Given the description of an element on the screen output the (x, y) to click on. 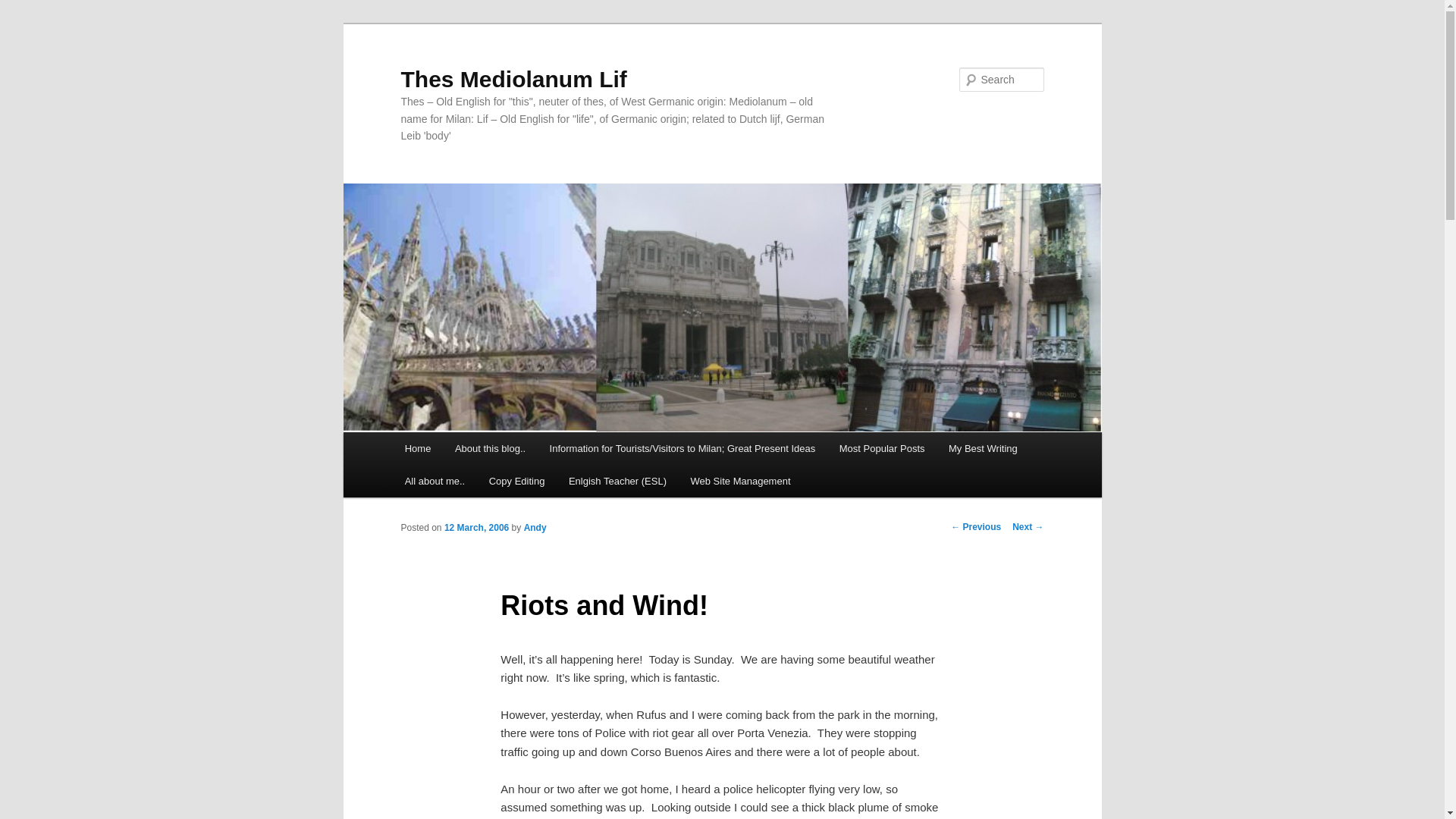
Search (24, 8)
Skip to secondary content (479, 451)
Copy Editing (516, 481)
Skip to primary content (472, 451)
12 March, 2006 (476, 527)
6:15 pm (476, 527)
Skip to primary content (472, 451)
Thes Mediolanum Lif (513, 78)
My Best Writing (982, 448)
Web Site Management (740, 481)
